Given the description of an element on the screen output the (x, y) to click on. 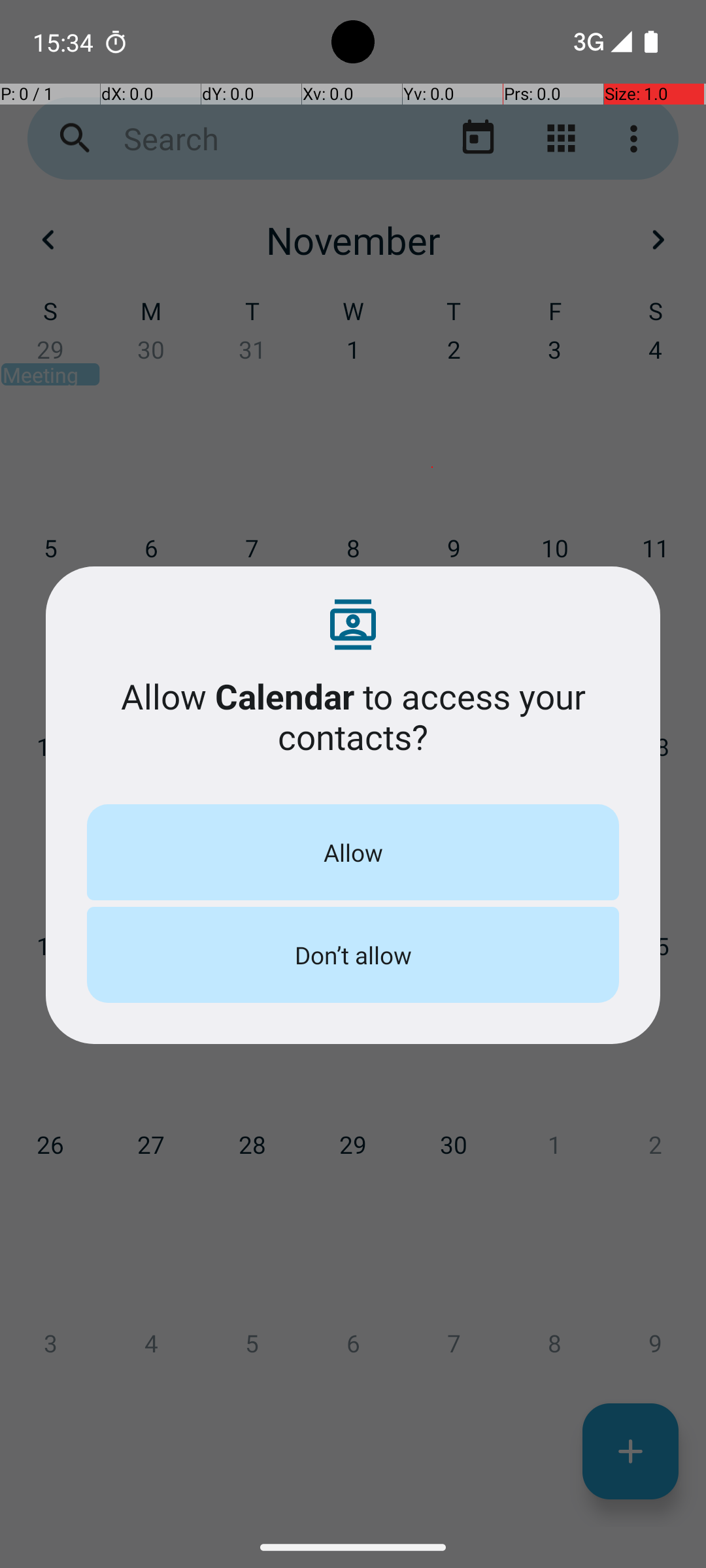
Allow Calendar to access your contacts? Element type: android.widget.TextView (352, 715)
